Given the description of an element on the screen output the (x, y) to click on. 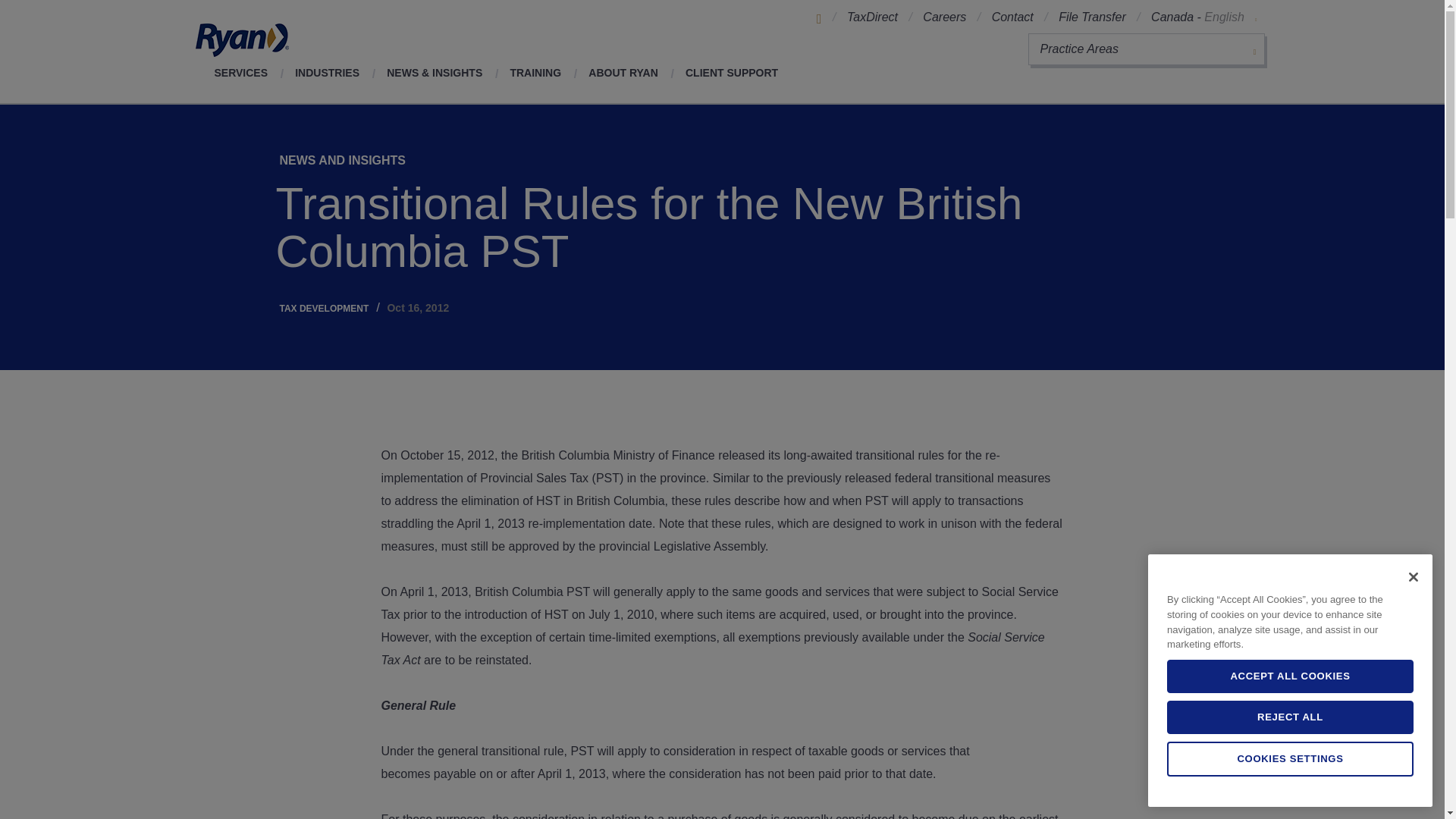
Careers (944, 16)
Contact (1012, 16)
TaxDirect (872, 16)
File Transfer (1091, 16)
Careers (944, 16)
Canada - English (1203, 16)
Contact (1012, 16)
TaxDirect (872, 16)
File Transfer (1091, 16)
